Given the description of an element on the screen output the (x, y) to click on. 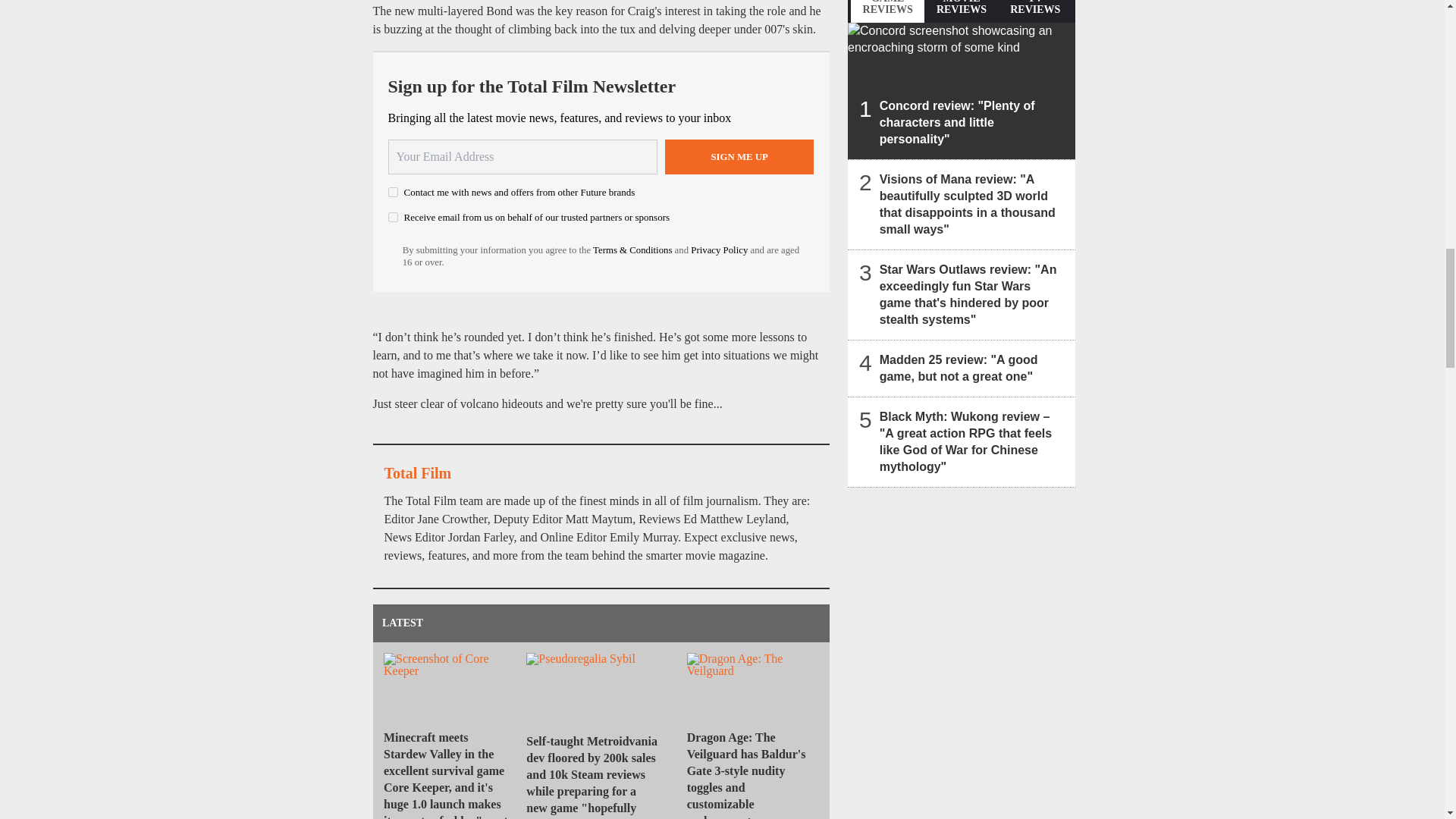
on (392, 216)
on (392, 192)
Sign me up (739, 156)
